Given the description of an element on the screen output the (x, y) to click on. 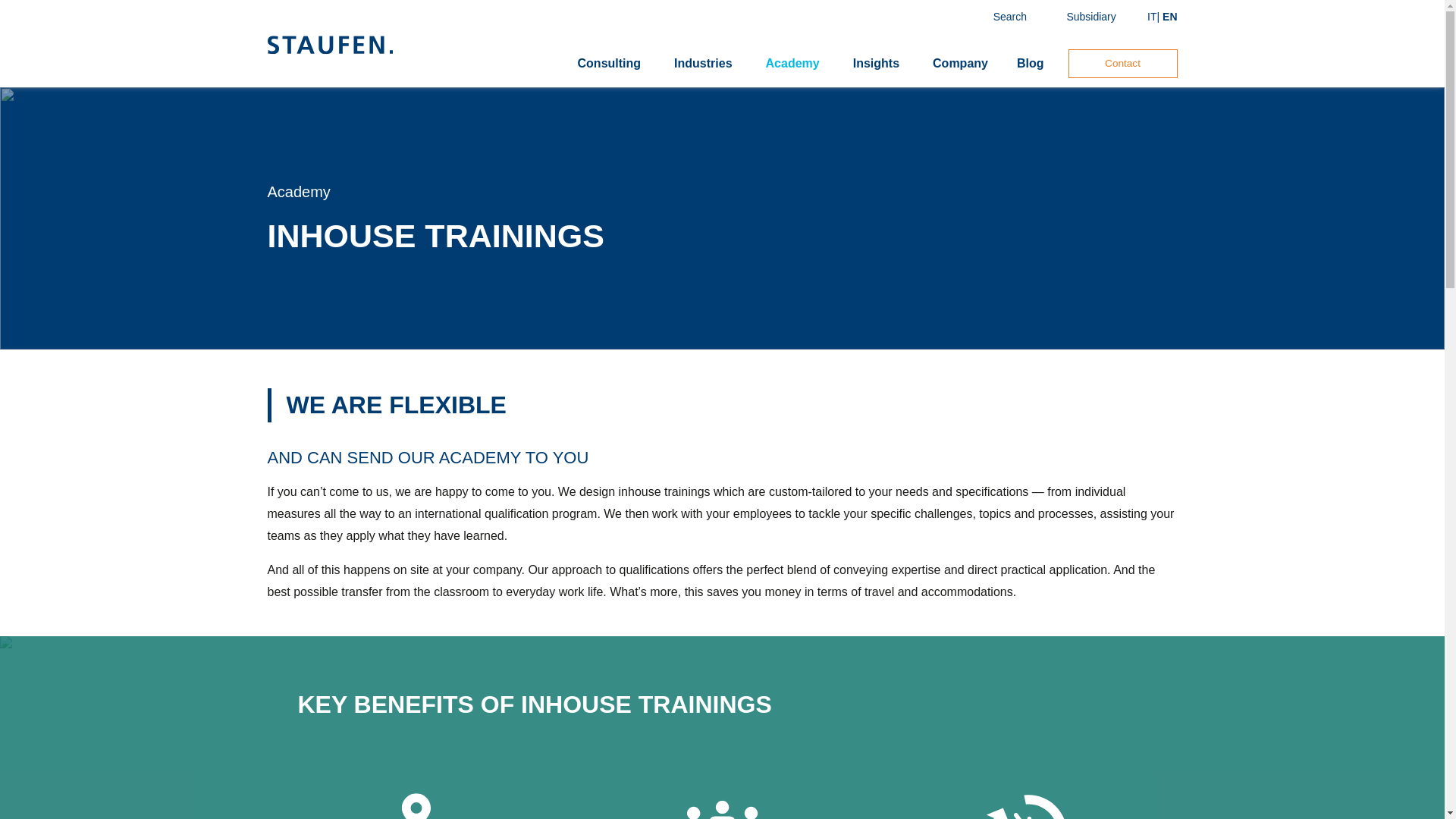
Consulting (609, 63)
Industries (702, 63)
Academy (298, 191)
EN (1168, 16)
Company (960, 63)
Insights (876, 63)
Search (996, 16)
Academy (792, 63)
Contact (1121, 63)
Blog (1029, 63)
